Given the description of an element on the screen output the (x, y) to click on. 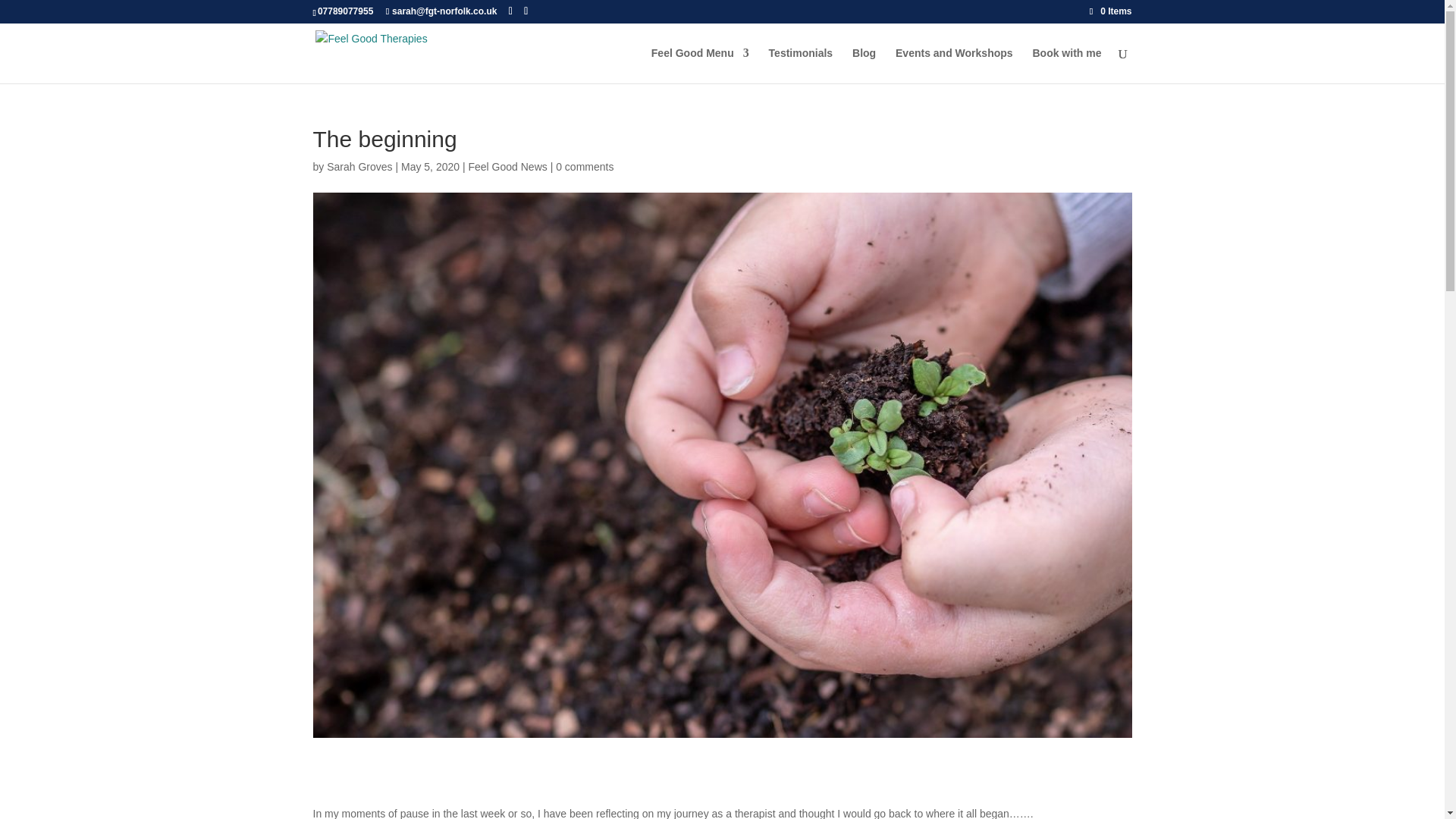
Feel Good News (507, 166)
Sarah Groves (358, 166)
Events and Workshops (954, 65)
0 comments (584, 166)
0 Items (1110, 10)
Posts by Sarah Groves (358, 166)
Book with me (1066, 65)
Testimonials (800, 65)
Feel Good Menu (699, 65)
